Given the description of an element on the screen output the (x, y) to click on. 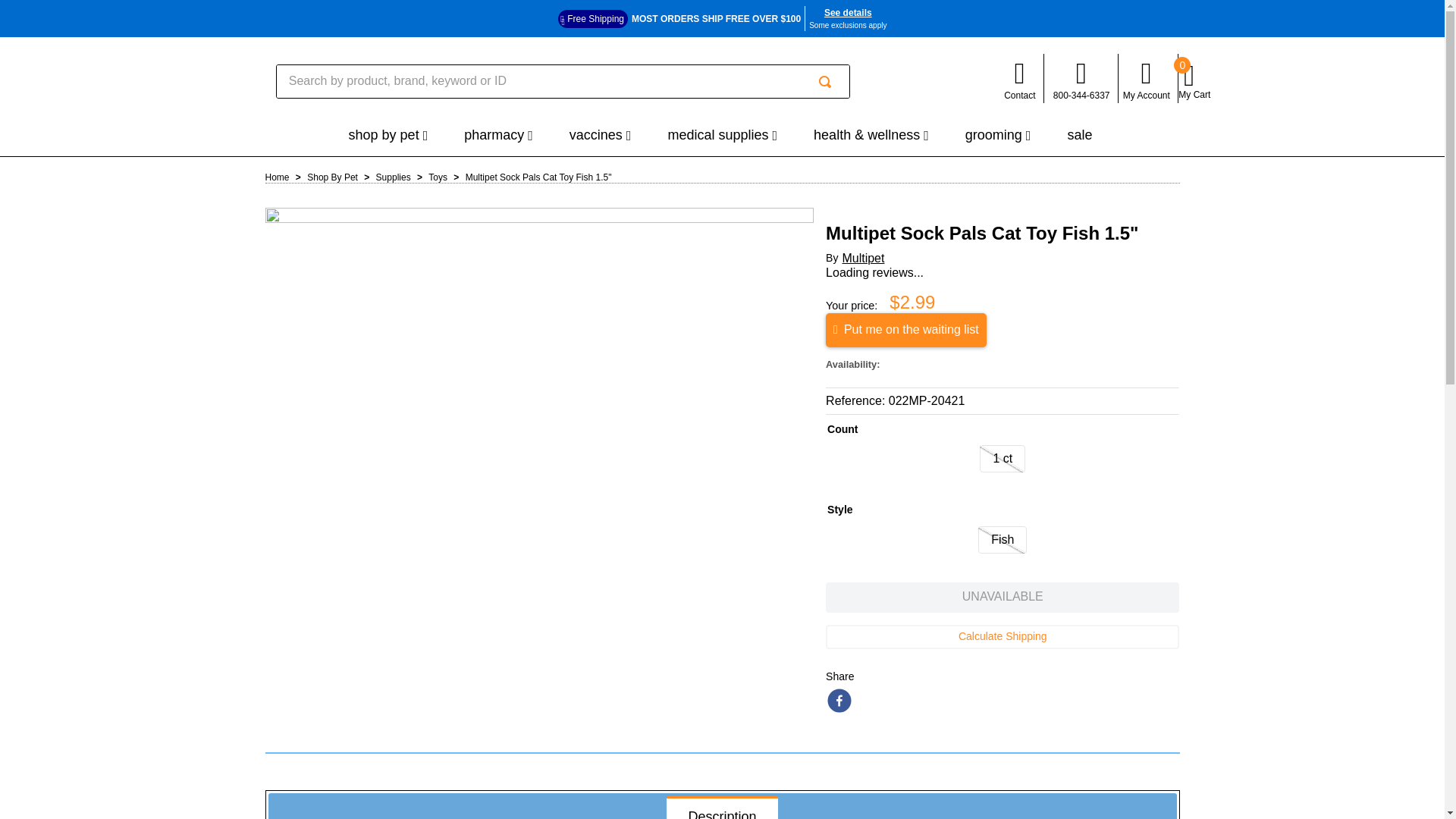
Pharmacy (498, 135)
Vaccines (600, 135)
UNAVAILABLE (1002, 597)
grooming (997, 135)
Description (721, 810)
Home (276, 176)
sale (1081, 135)
Toys (437, 176)
medical supplies (721, 135)
See details (848, 12)
Contact (1019, 78)
vaccines (600, 135)
800-344-6337 (1080, 78)
Calculate Shipping (1002, 636)
0 (1194, 82)
